Given the description of an element on the screen output the (x, y) to click on. 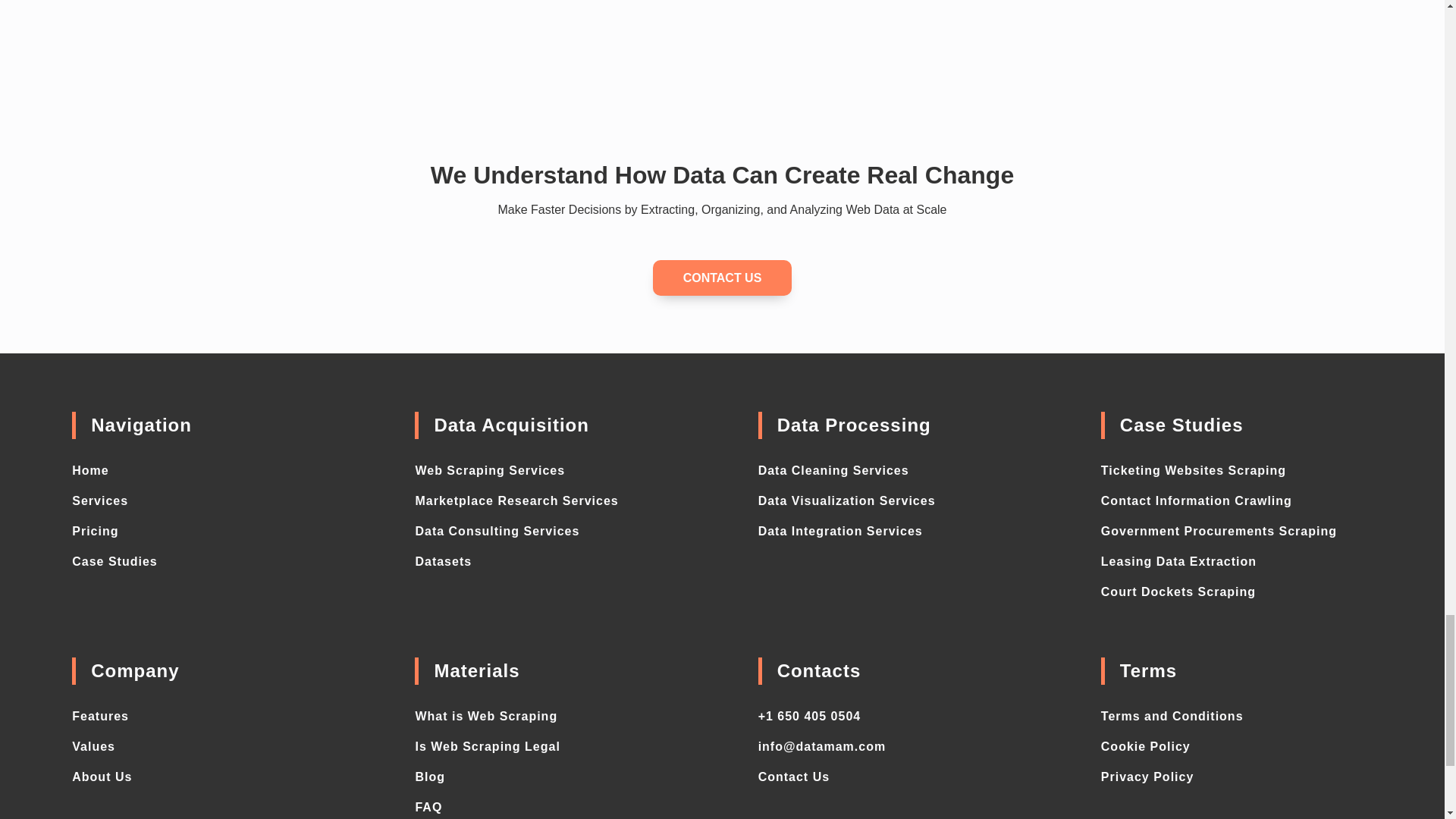
Ticketing Websites Scraping (1192, 470)
Home (89, 470)
Web Scraping Services (489, 470)
Government Procurements Scraping (1218, 530)
Contact Information Crawling (1196, 500)
CONTACT US (722, 277)
Case Studies (114, 561)
Marketplace Research Services (515, 500)
Data Consulting Services (496, 530)
Pricing (94, 530)
Data Cleaning Services (833, 470)
Services (99, 500)
Data Visualization Services (847, 500)
Data Integration Services (840, 530)
Datasets (442, 561)
